Given the description of an element on the screen output the (x, y) to click on. 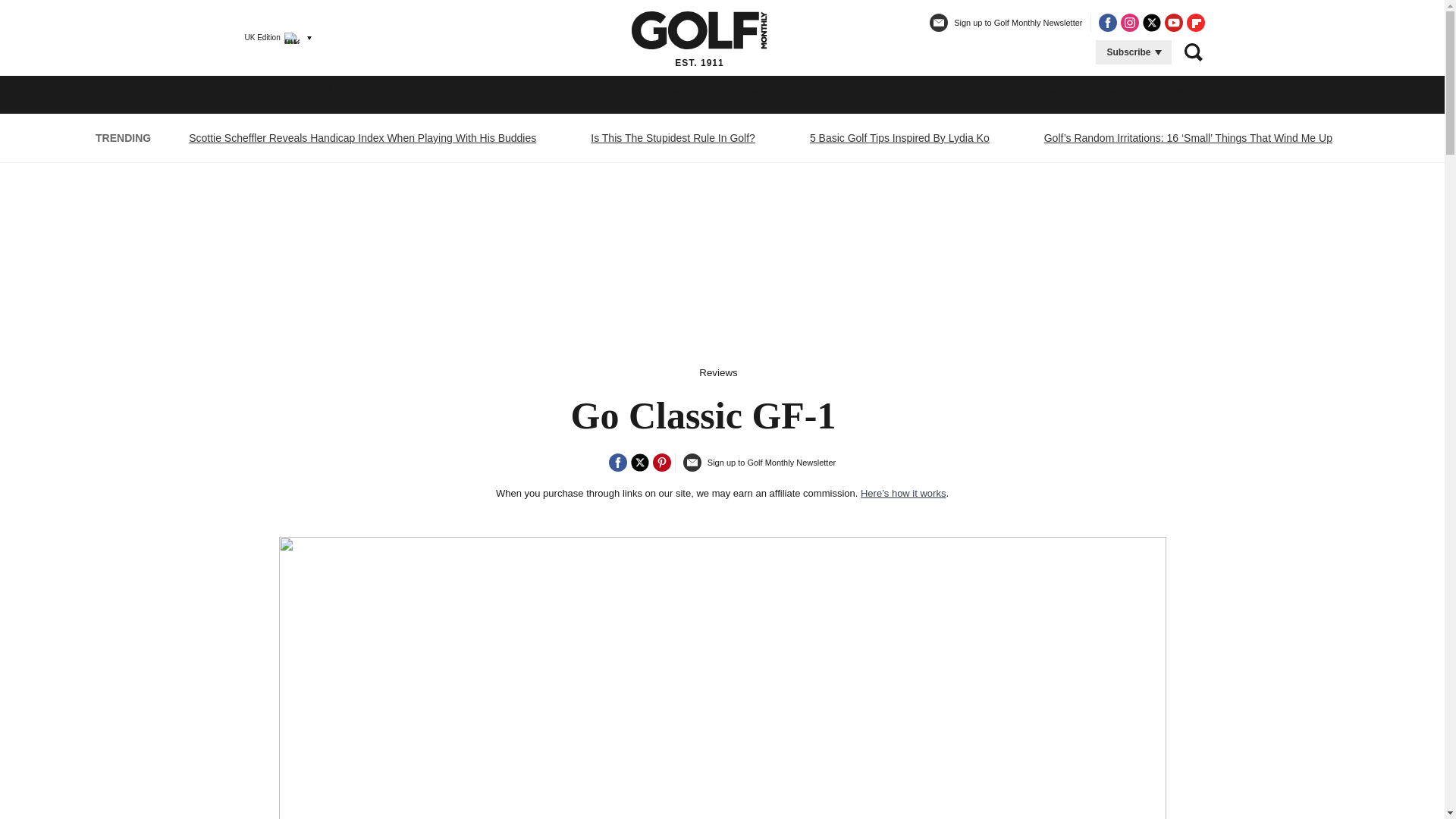
5 Basic Golf Tips Inspired By Lydia Ko (899, 137)
TOUR (561, 91)
FEATURES (780, 91)
RULES (625, 91)
UK Edition (271, 37)
BUYING ADVICE (343, 91)
EST. 1911 (699, 37)
NEWS (257, 91)
TIPS (427, 91)
